Given the description of an element on the screen output the (x, y) to click on. 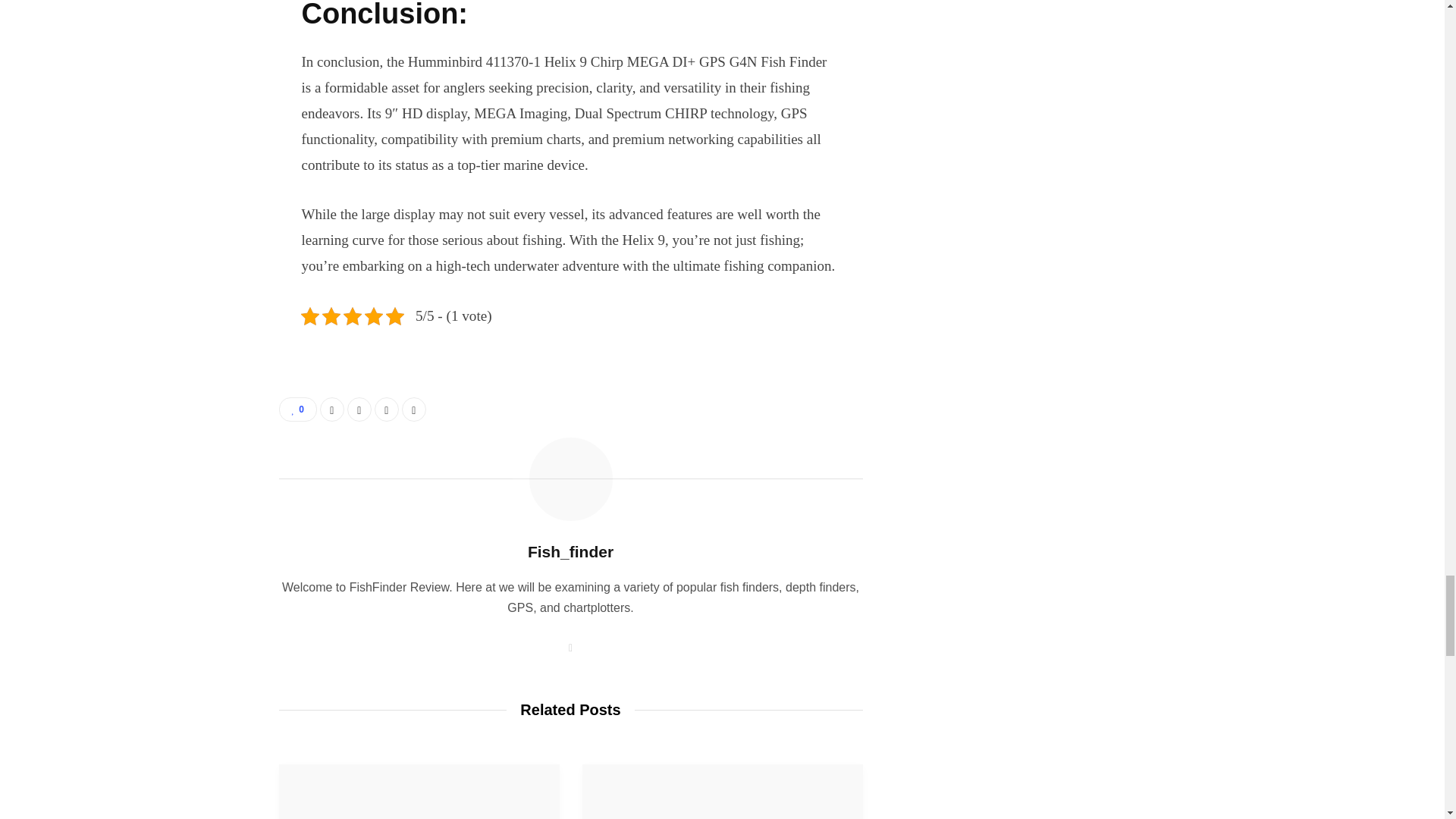
LinkedIn (386, 409)
0 (298, 409)
Pinterest (413, 409)
Share on Facebook (331, 409)
Share on Twitter (359, 409)
